Given the description of an element on the screen output the (x, y) to click on. 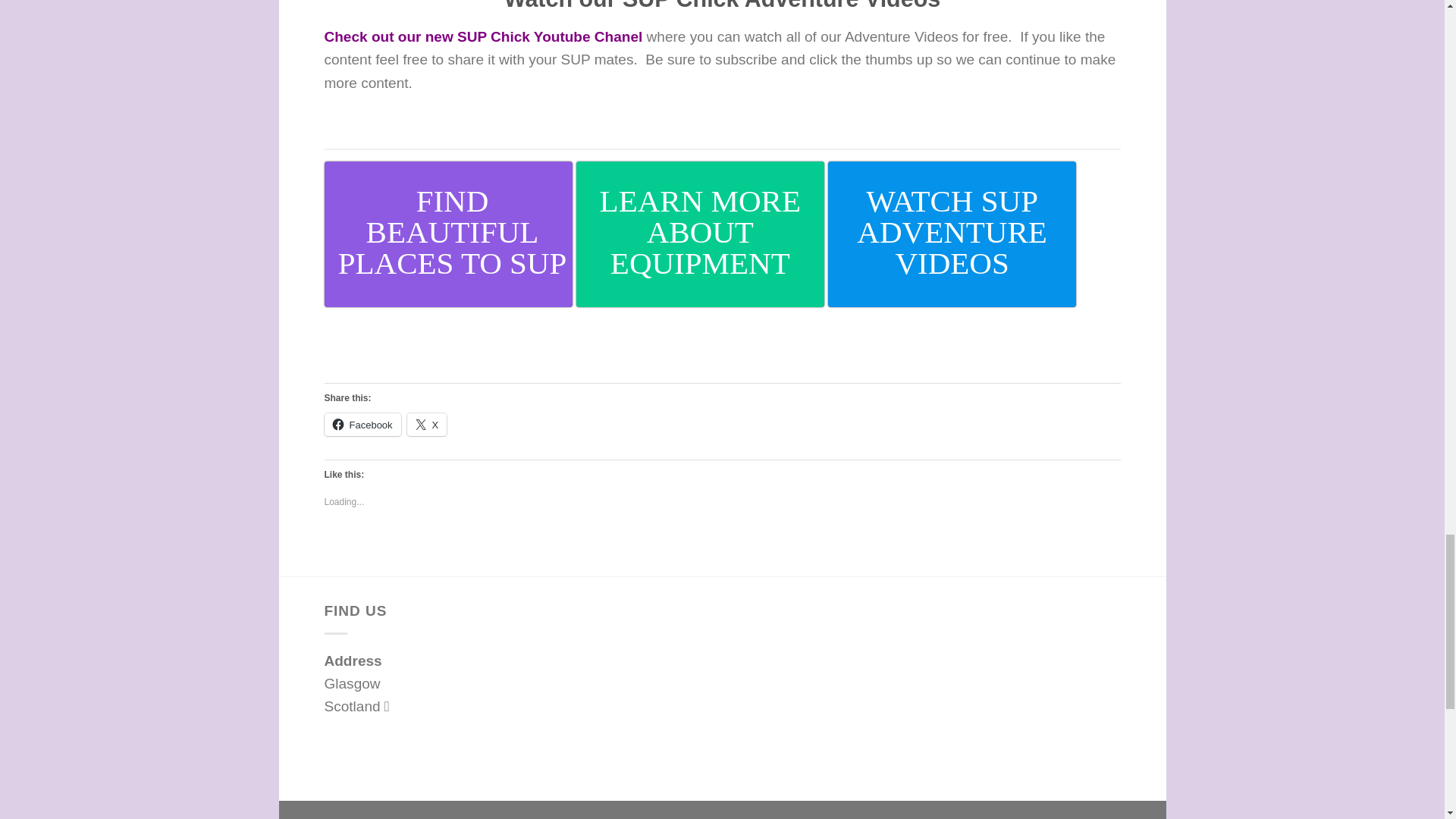
Click to share on X (426, 424)
Check out our new SUP Chick Youtube Chanel (483, 36)
Click to share on Facebook (362, 424)
